Given the description of an element on the screen output the (x, y) to click on. 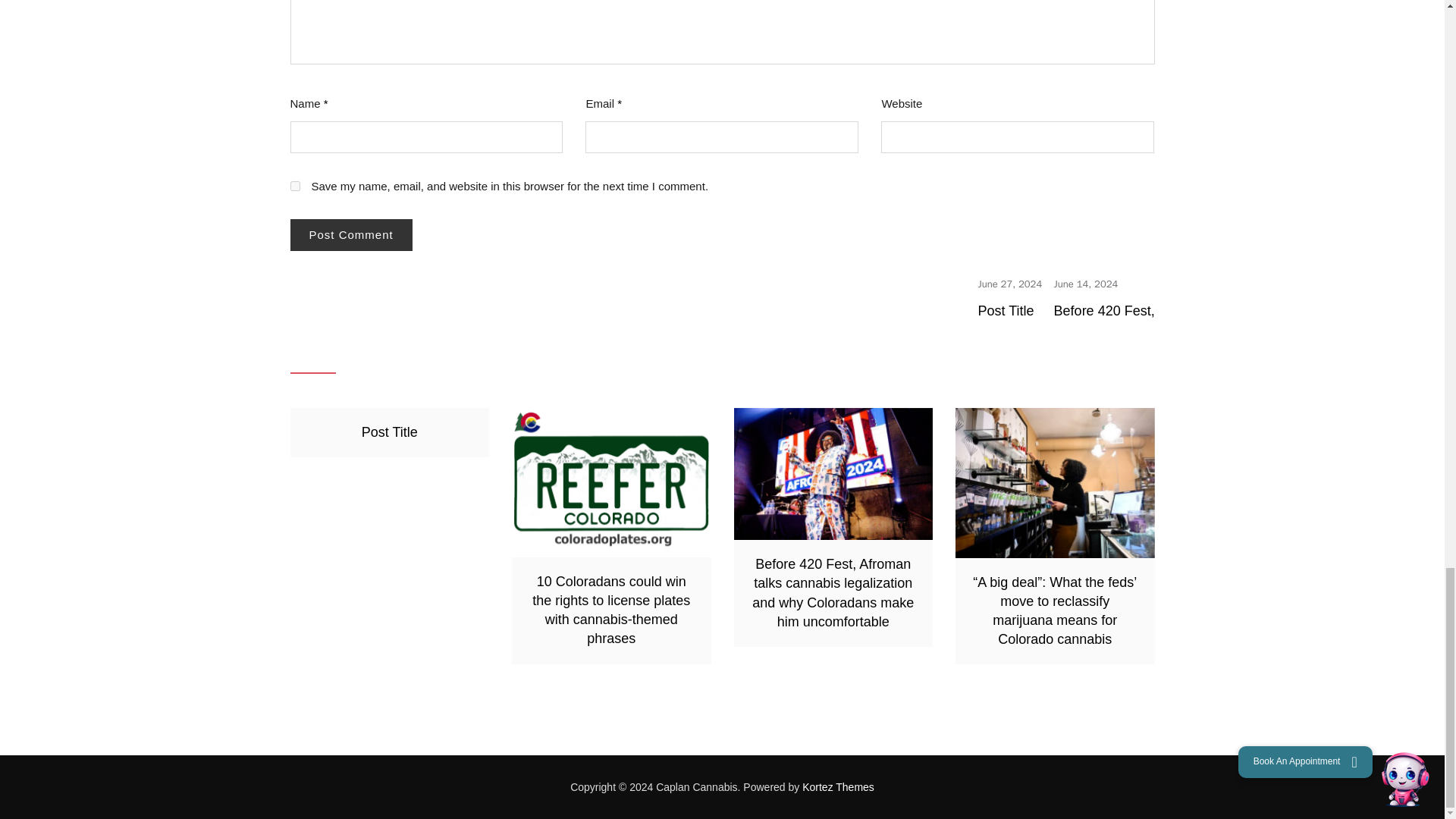
Post Comment (350, 234)
yes (294, 185)
Post Title (1010, 283)
Post Title (1005, 310)
